Given the description of an element on the screen output the (x, y) to click on. 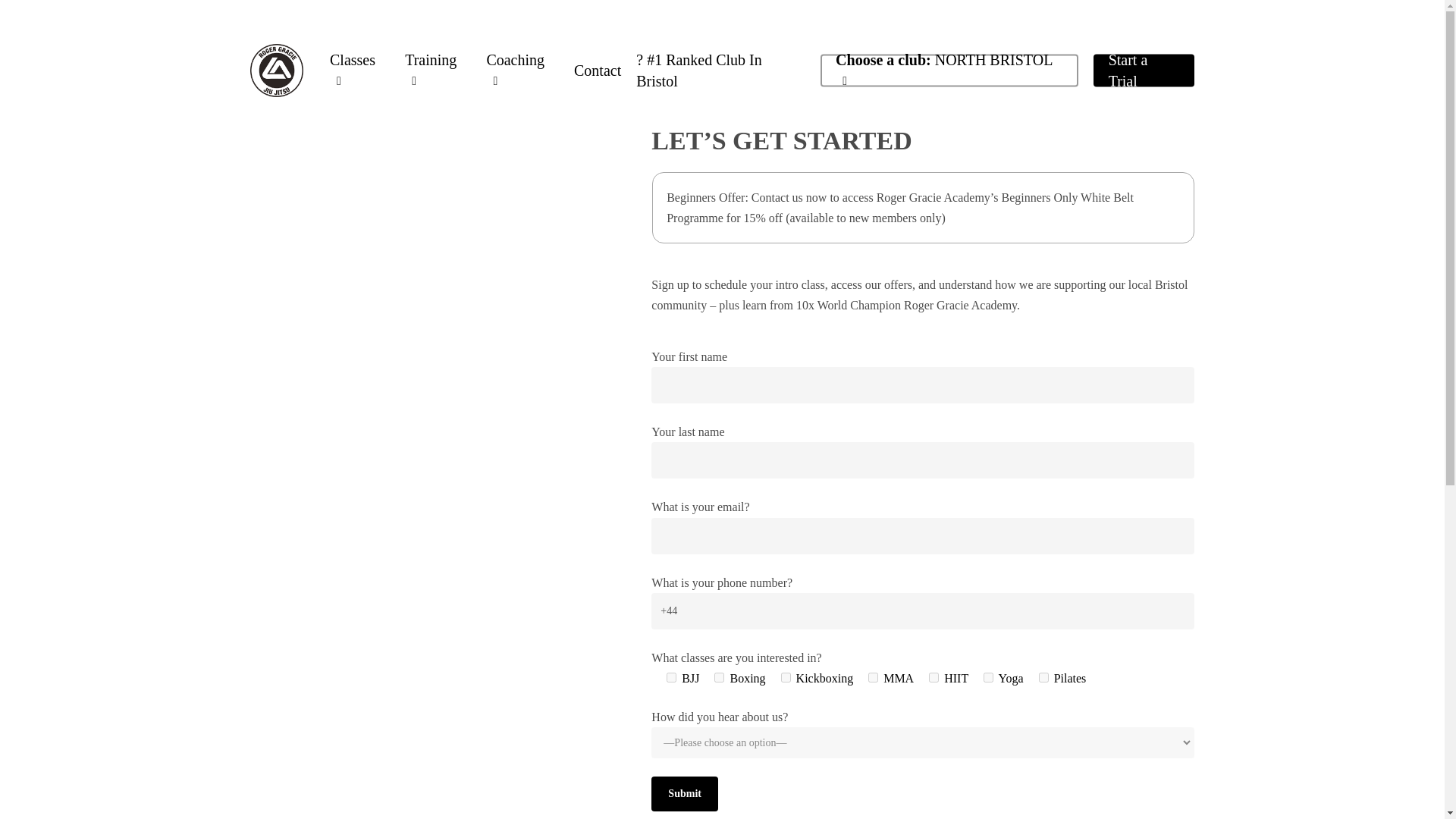
Classes (360, 70)
Pilates (1043, 677)
Kickboxing (785, 677)
Submit (683, 793)
Boxing (718, 677)
Start a Trial (1143, 70)
Choose a club: NORTH BRISTOL (949, 70)
Submit (683, 793)
MMA (872, 677)
Coaching (522, 70)
BJJ (671, 677)
Contact (597, 70)
Training (437, 70)
HIIT (933, 677)
Yoga (988, 677)
